Given the description of an element on the screen output the (x, y) to click on. 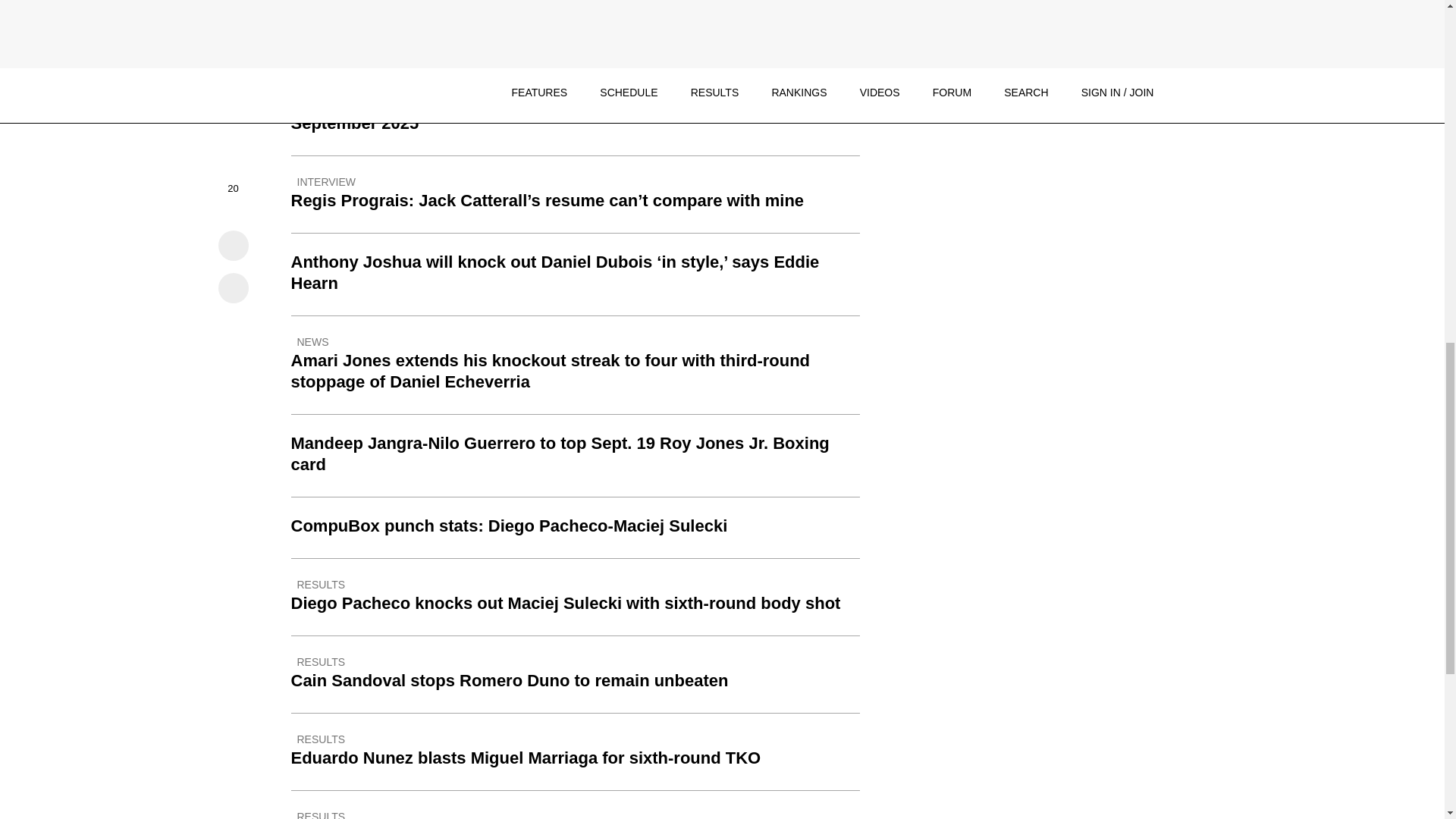
ADD COMMENT (368, 2)
NEWS FEED (322, 66)
